Given the description of an element on the screen output the (x, y) to click on. 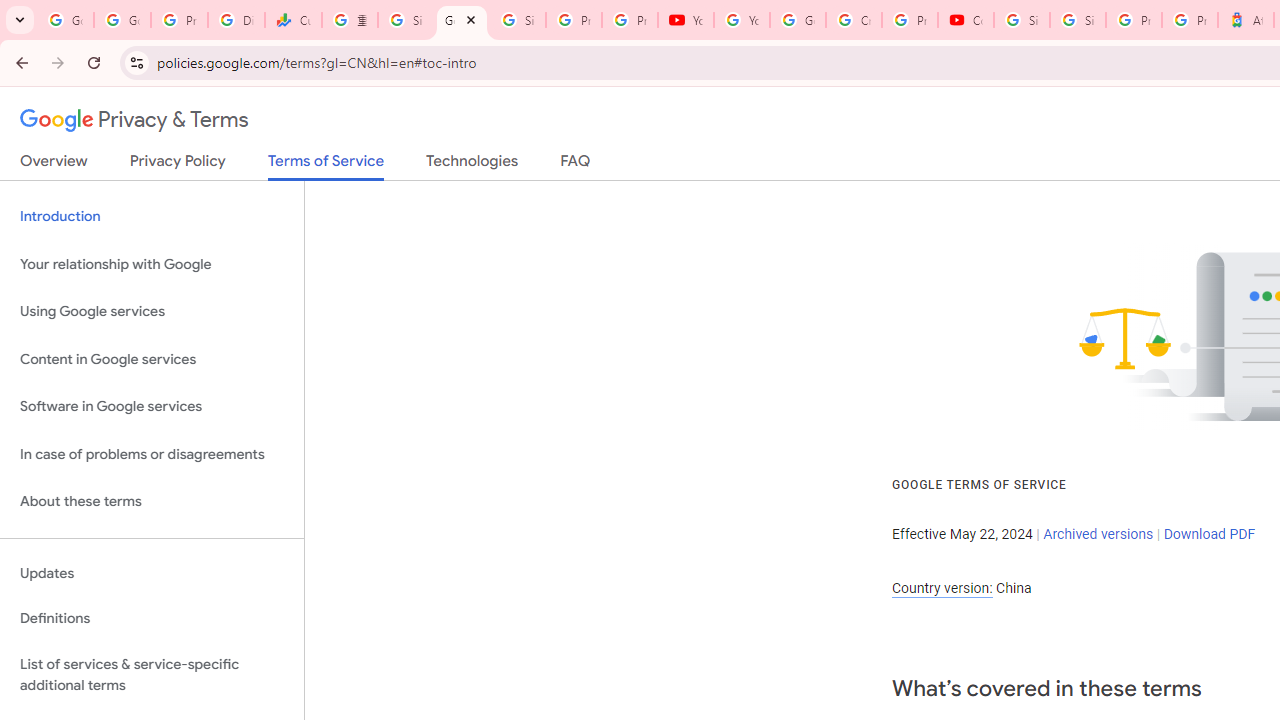
Sign in - Google Accounts (405, 20)
About these terms (152, 502)
In case of problems or disagreements (152, 453)
Sign in - Google Accounts (1021, 20)
Download PDF (1209, 533)
Definitions (152, 619)
Sign in - Google Accounts (1077, 20)
